Given the description of an element on the screen output the (x, y) to click on. 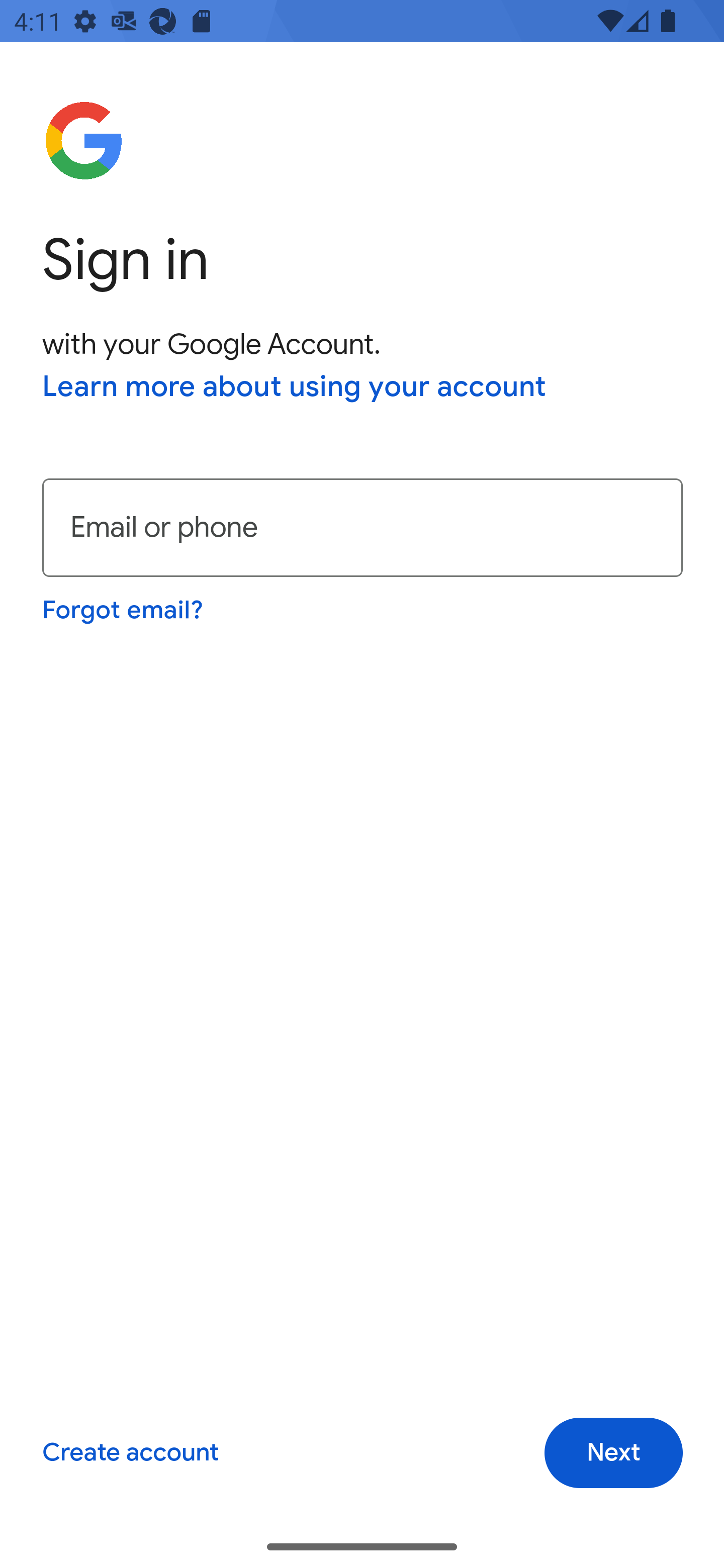
Learn more about using your account (294, 388)
Forgot email? (123, 609)
Next (613, 1453)
Create account (129, 1453)
